Given the description of an element on the screen output the (x, y) to click on. 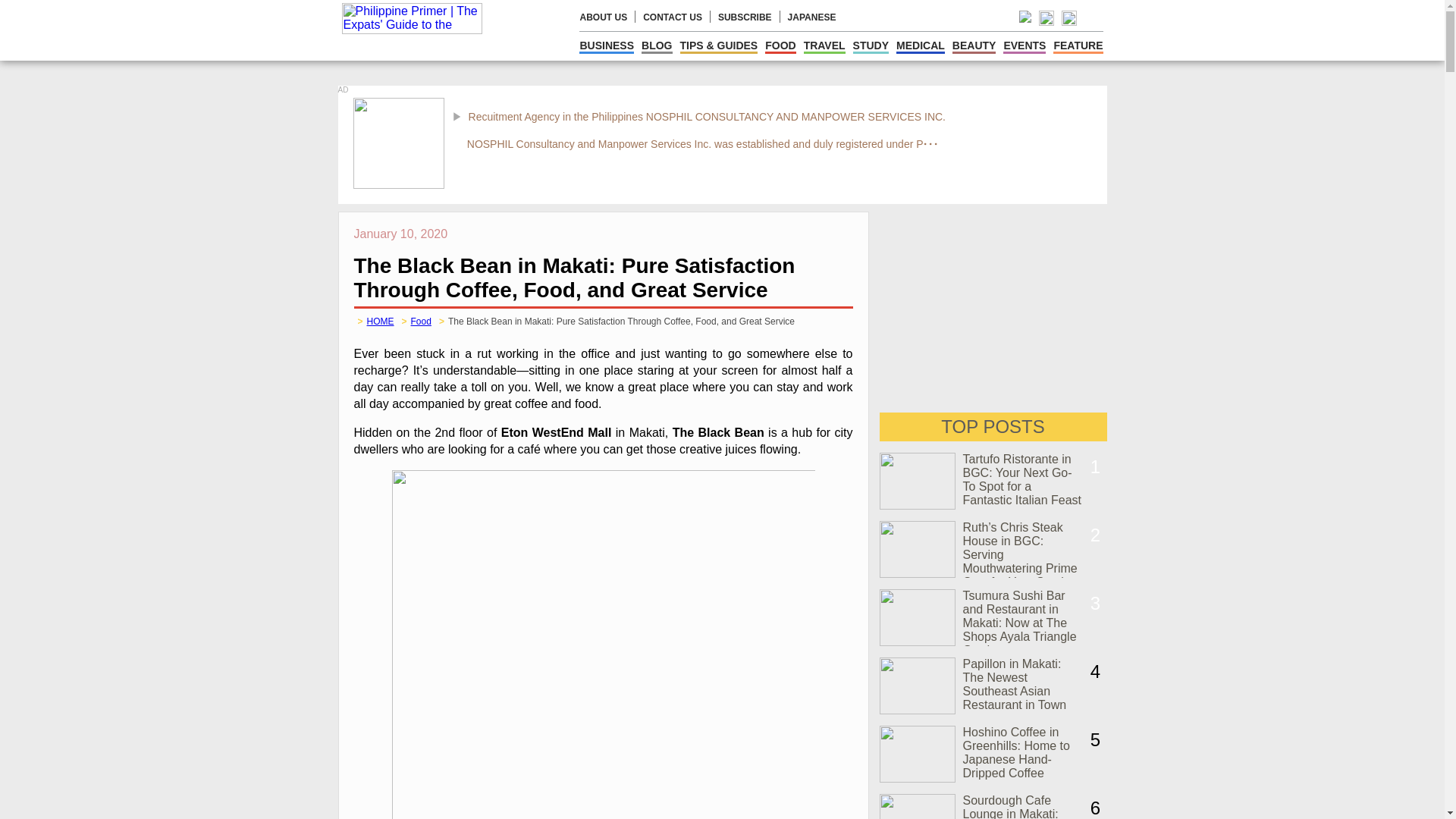
BLOG (656, 45)
MEDICAL (920, 45)
Philippine Travel (824, 45)
Philippine Related Blog (656, 45)
FOOD (779, 45)
Philippine Study (870, 45)
Philippine Food (779, 45)
Philippine Medical (920, 45)
Contact Us (672, 17)
HOME (380, 321)
Subscribe (744, 17)
Philippine Primer Top Page (418, 29)
Food (420, 321)
ABOUT US (603, 17)
CONTACT US (672, 17)
